Given the description of an element on the screen output the (x, y) to click on. 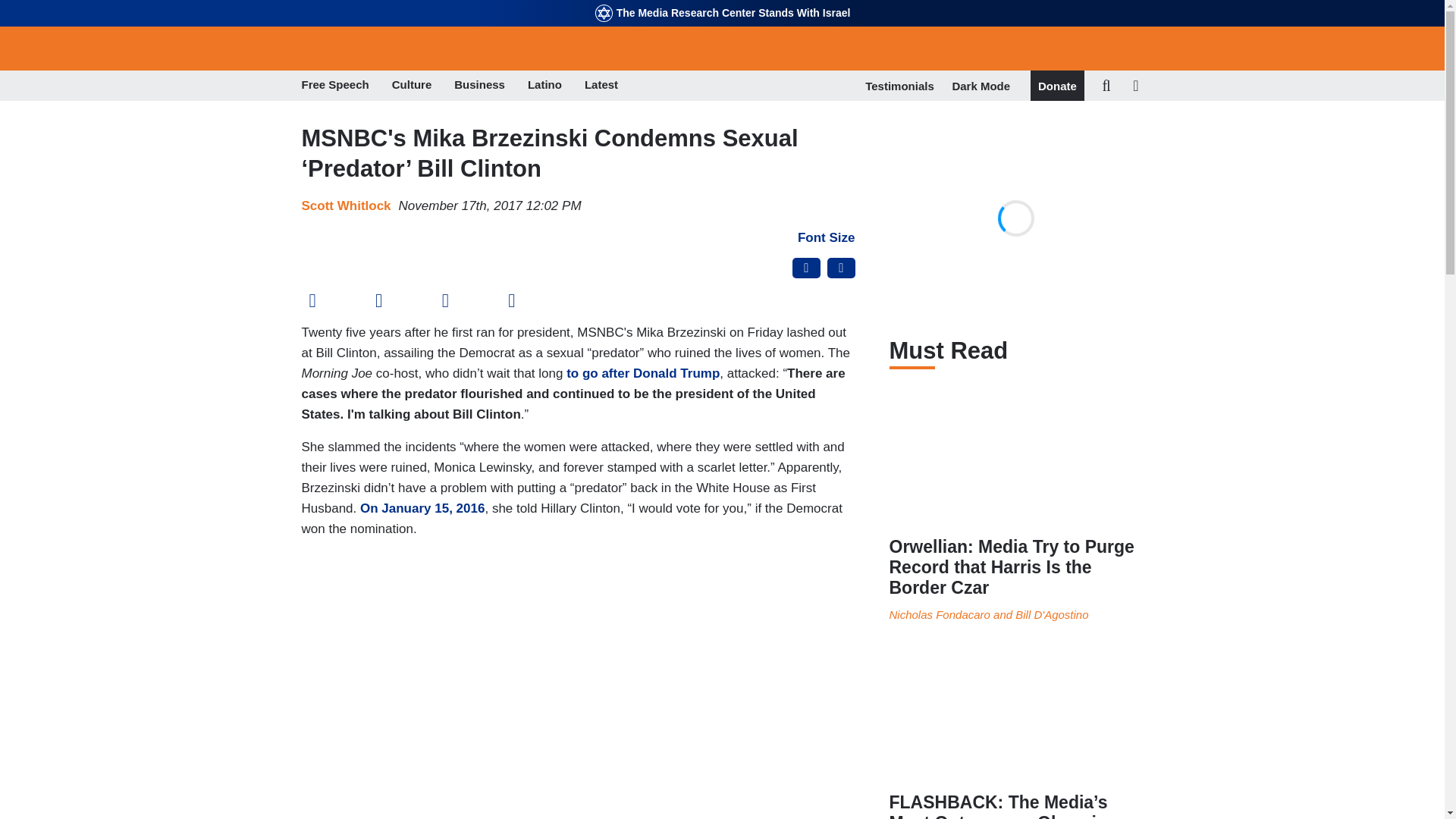
Business (479, 85)
Culture (411, 85)
Latino (544, 85)
Testimonials (899, 85)
Latest (601, 85)
Skip to main content (721, 1)
Free Speech (335, 85)
Dark Mode (981, 85)
Donate (1057, 86)
